Given the description of an element on the screen output the (x, y) to click on. 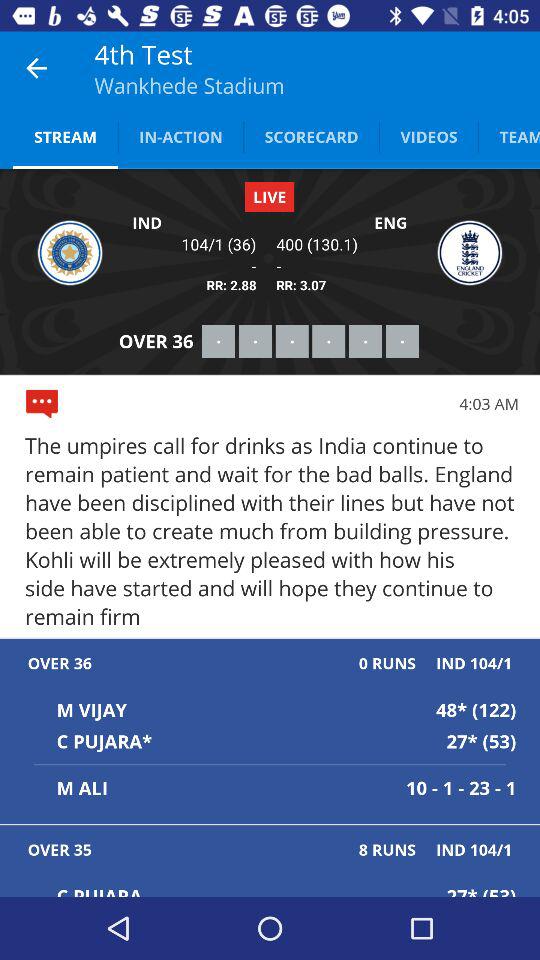
scroll to videos app (428, 136)
